Given the description of an element on the screen output the (x, y) to click on. 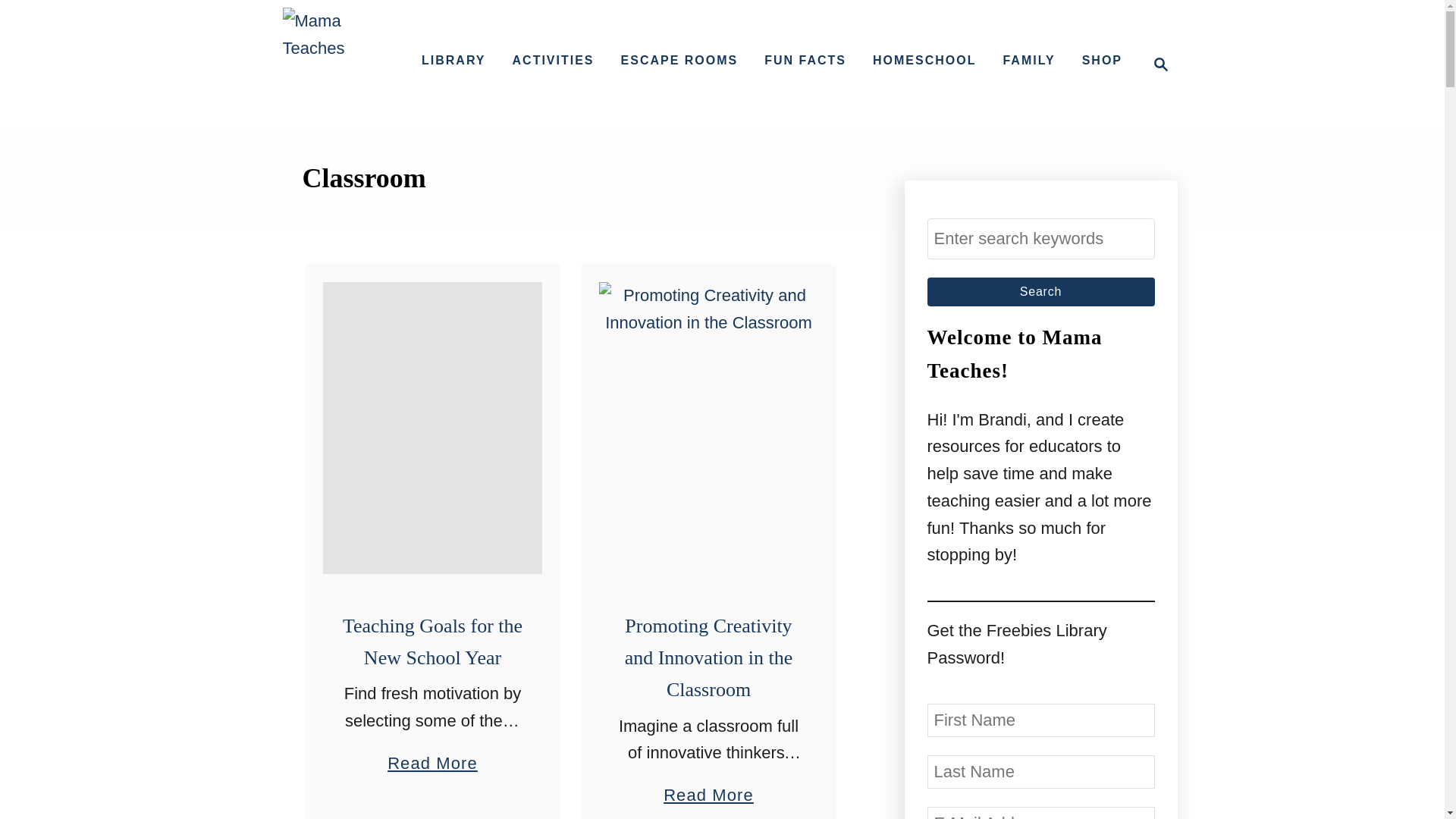
ACTIVITIES (553, 60)
HOMESCHOOL (924, 60)
FUN FACTS (805, 60)
Mama Teaches (339, 64)
Search (432, 755)
LIBRARY (1040, 291)
Magnifying Glass (453, 60)
Promoting Creativity and Innovation in the Classroom (1160, 64)
Search (708, 658)
FAMILY (1155, 64)
Teaching Goals for the New School Year (1040, 291)
ESCAPE ROOMS (1028, 60)
